Given the description of an element on the screen output the (x, y) to click on. 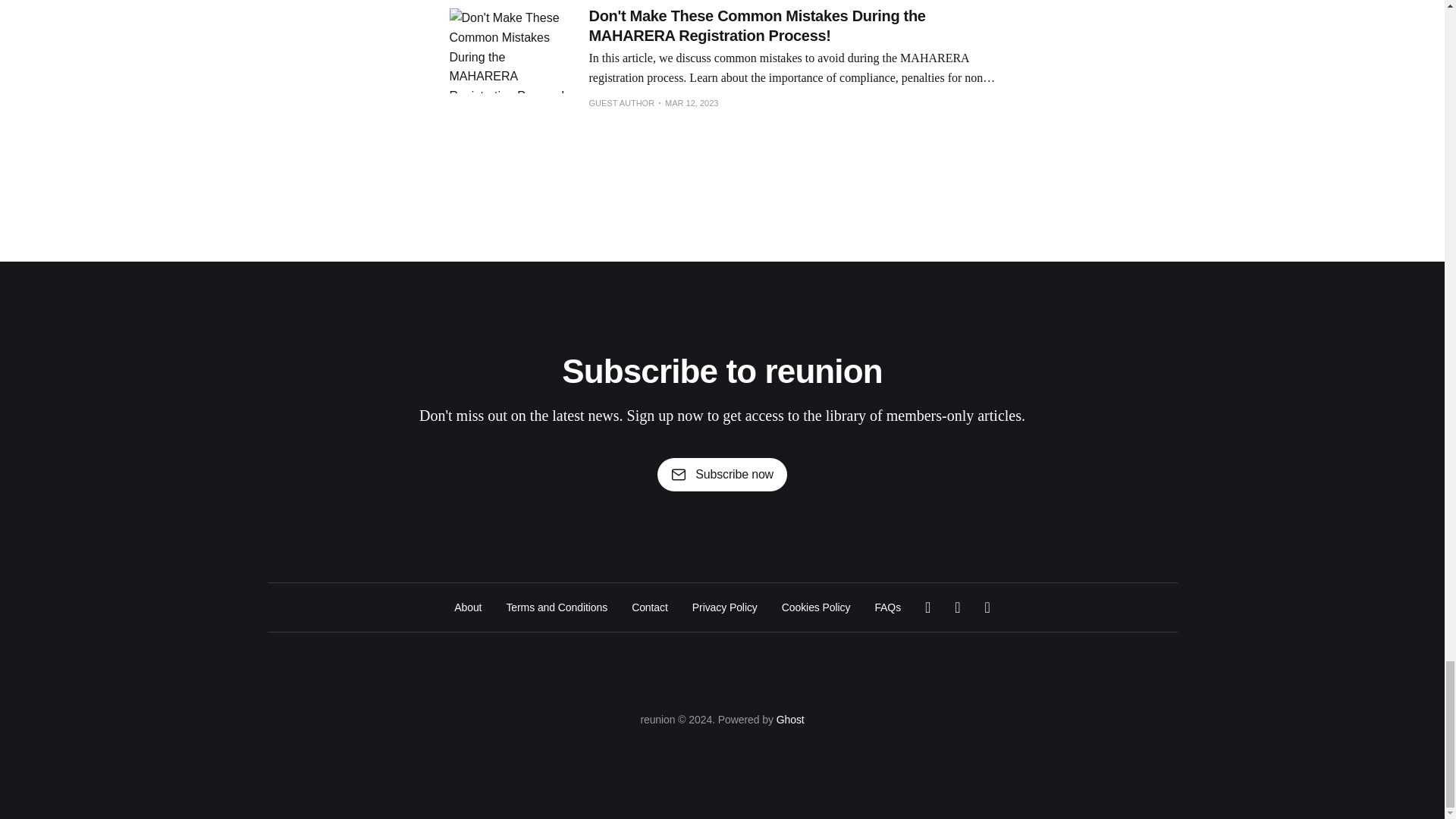
Ghost (790, 719)
Cookies Policy (815, 606)
Privacy Policy (725, 606)
Terms and Conditions (556, 606)
About (467, 606)
Subscribe now (722, 474)
Contact (649, 606)
FAQs (888, 606)
